Given the description of an element on the screen output the (x, y) to click on. 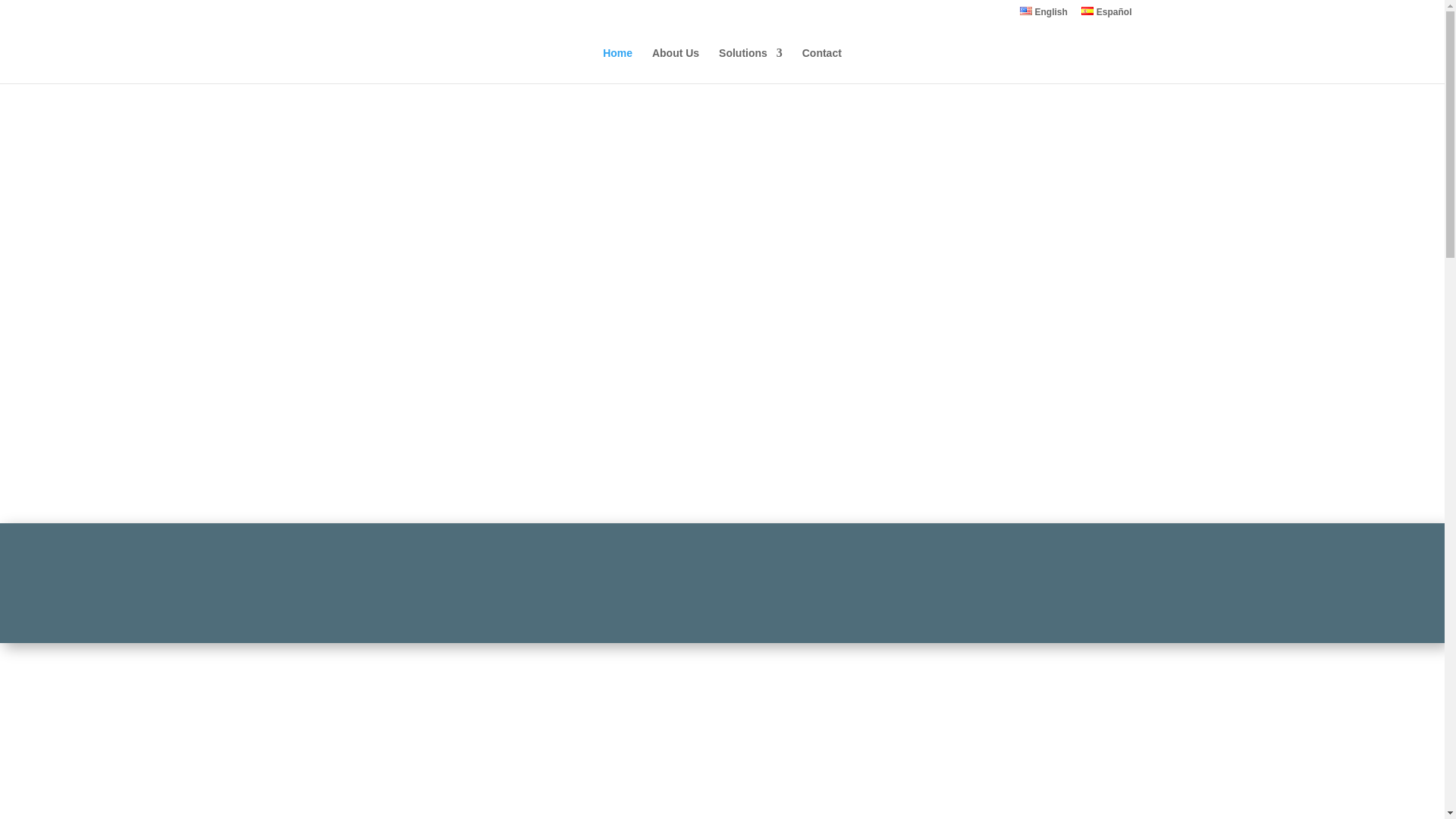
Contact (821, 65)
About Us (675, 65)
English (1043, 14)
Solutions (751, 65)
